Given the description of an element on the screen output the (x, y) to click on. 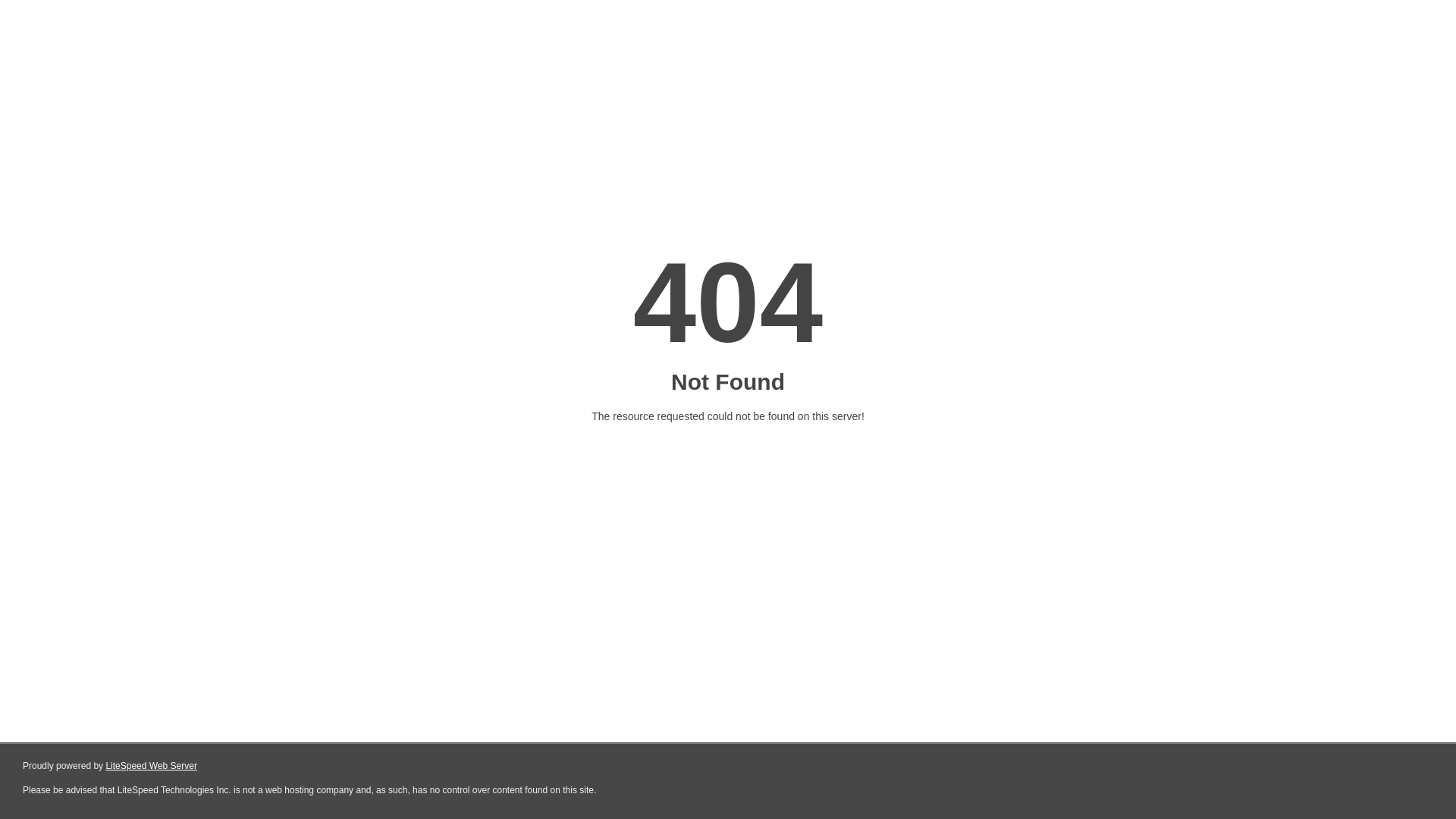
LiteSpeed Web Server Element type: text (151, 765)
